Given the description of an element on the screen output the (x, y) to click on. 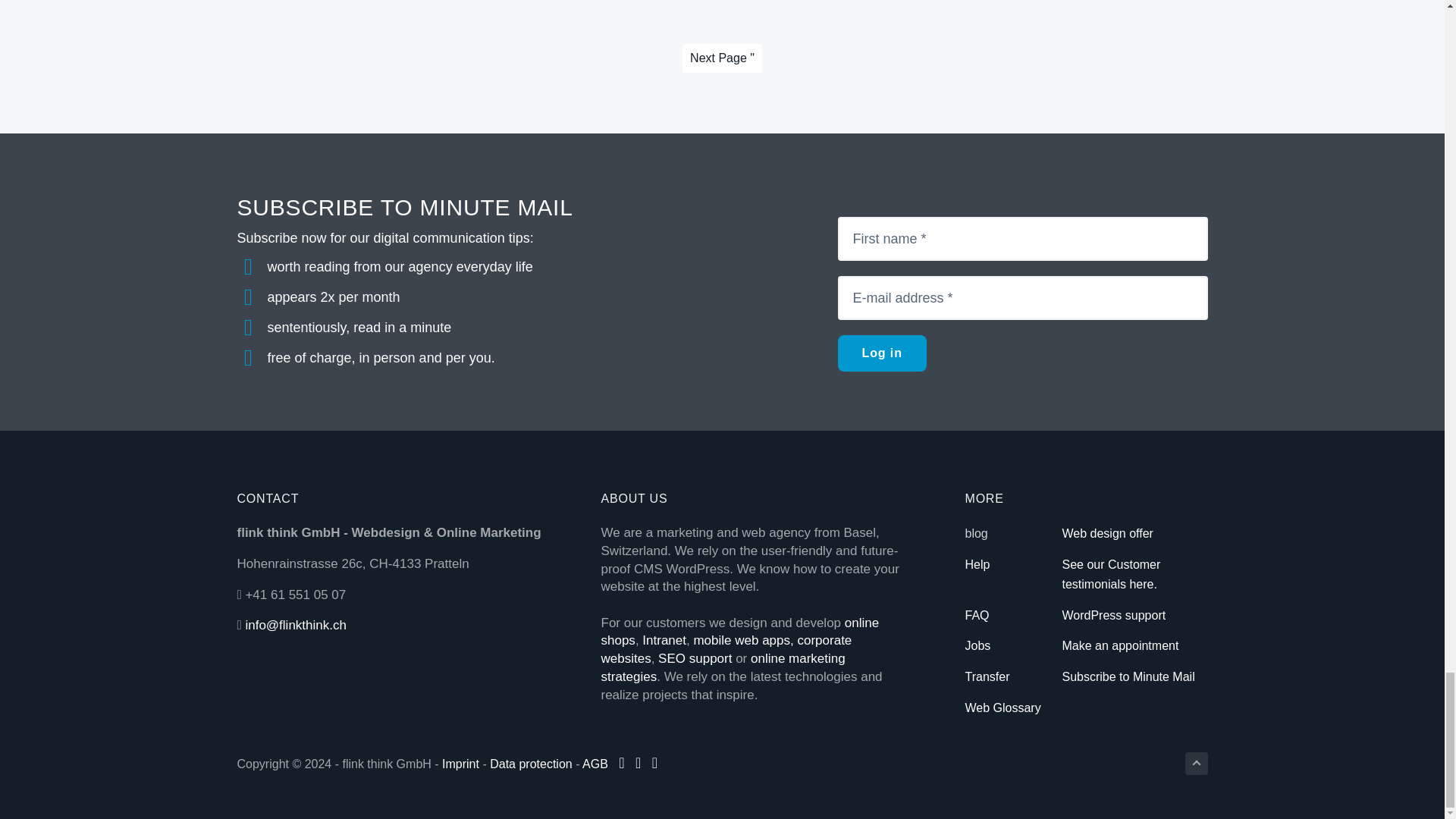
Next Page " (721, 58)
Log in (881, 352)
Intranet (663, 640)
First name (1022, 239)
Log in (881, 352)
E-mail address (1022, 298)
online shops (739, 631)
mobile web apps, (743, 640)
